Given the description of an element on the screen output the (x, y) to click on. 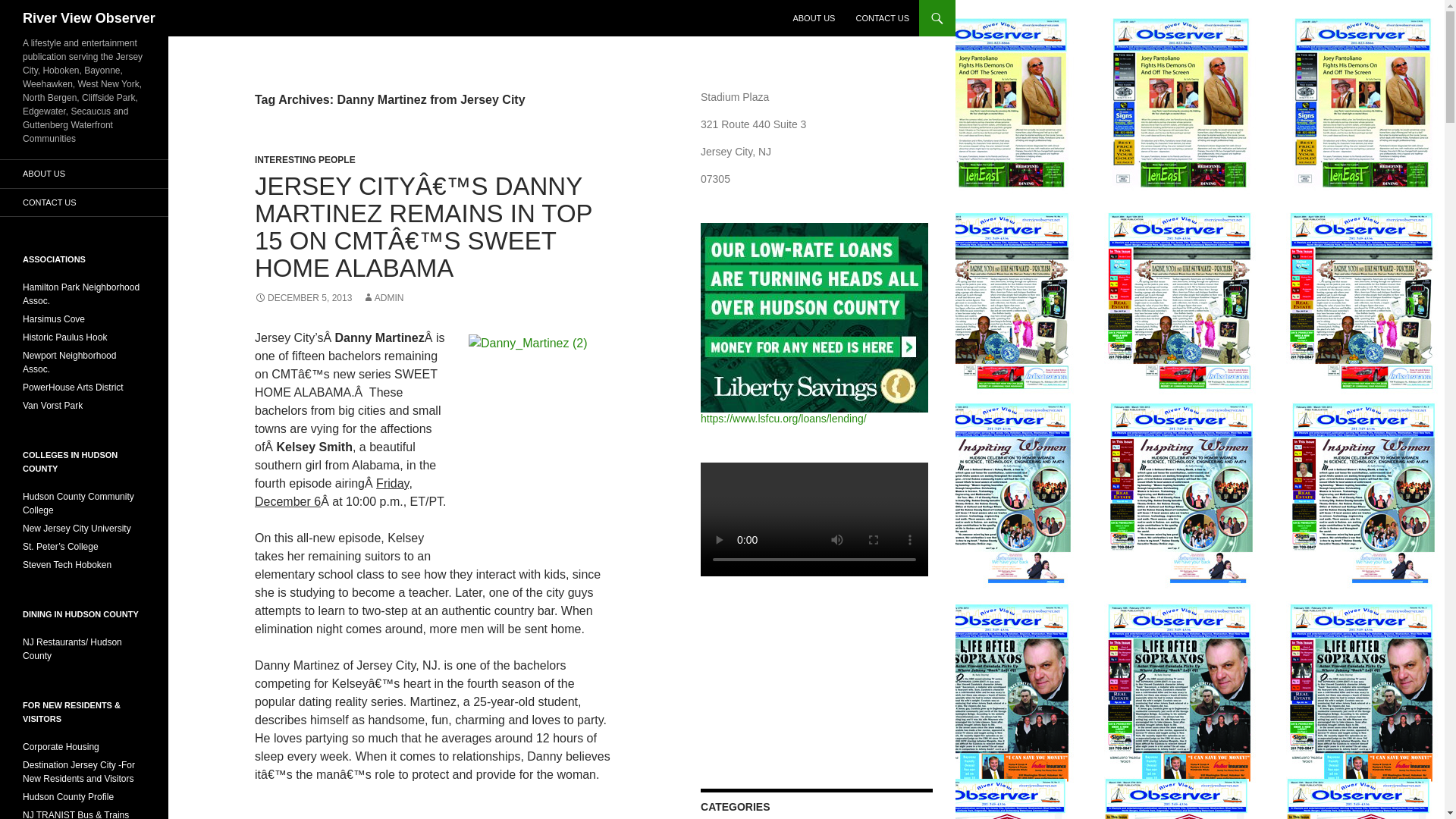
INTERESTING PEOPLE (304, 159)
River View Observer (89, 18)
ADMIN (383, 297)
ABOUT US (813, 18)
CONTACT US (881, 18)
DECEMBER 5, 2013 (303, 297)
Search (30, 8)
